Given the description of an element on the screen output the (x, y) to click on. 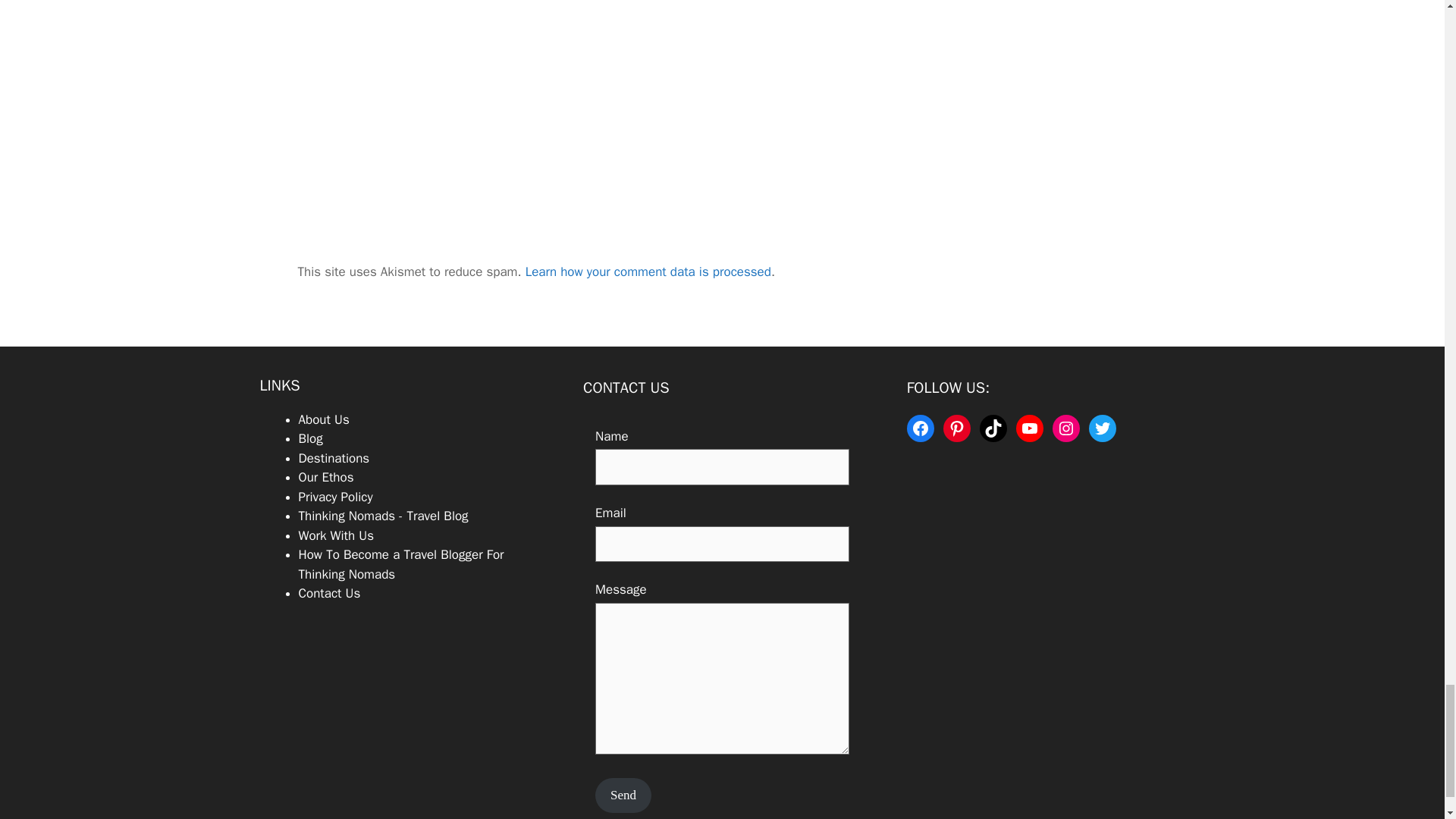
Learn how your comment data is processed (648, 271)
Blog (310, 438)
About Us (323, 419)
